Given the description of an element on the screen output the (x, y) to click on. 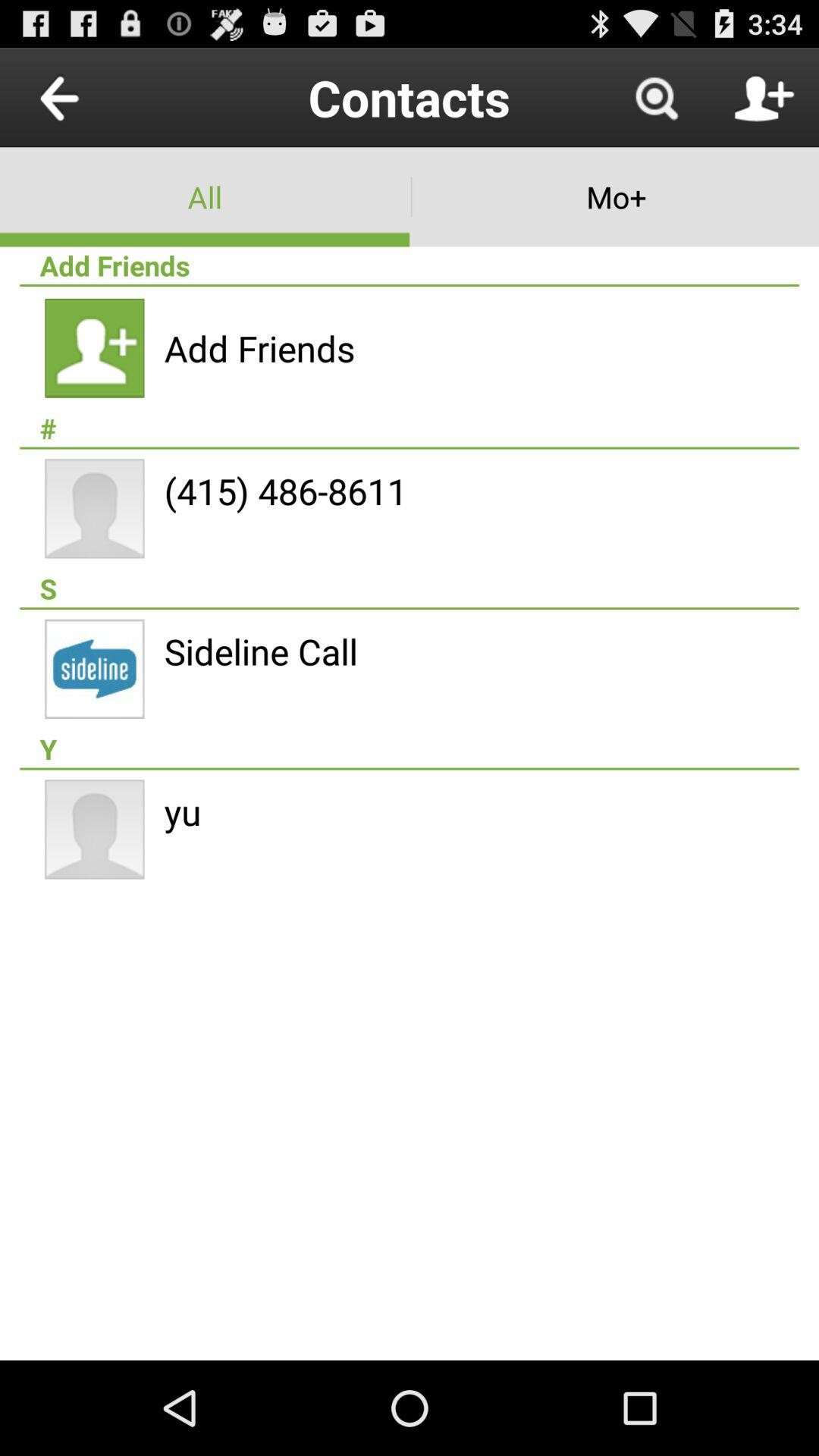
tap the item next to the contacts item (655, 97)
